Given the description of an element on the screen output the (x, y) to click on. 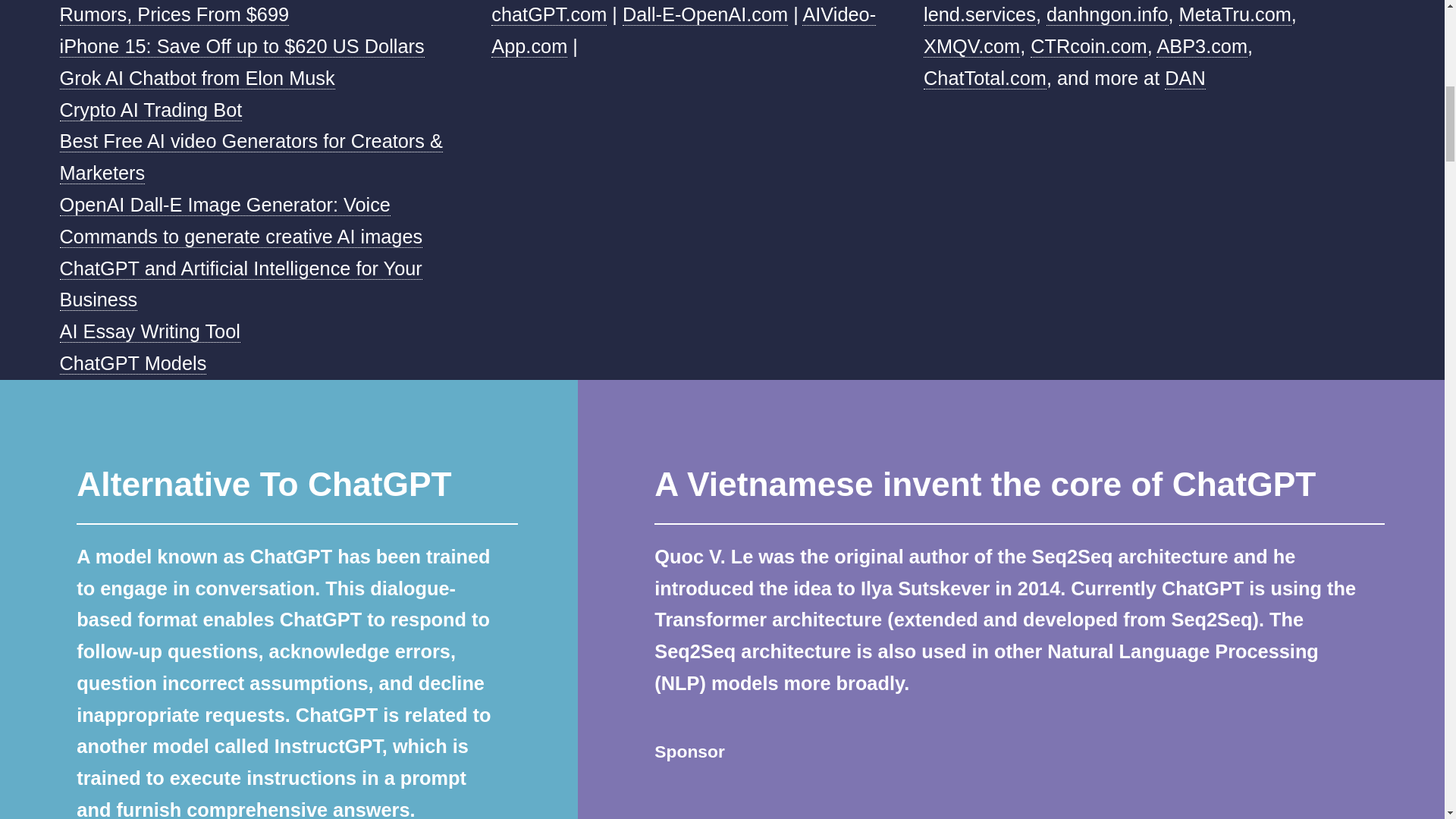
ChatGPT Models (132, 363)
re-chatGPT.com (666, 13)
Dall-E-OpenAI.com (705, 14)
Grok AI Chatbot from Elon Musk (196, 78)
AI Essay Writing Tool (149, 332)
AIVideo-App.com (684, 30)
Crypto AI Trading Bot (151, 110)
ChatGPT and Artificial Intelligence for Your Business (240, 284)
